Given the description of an element on the screen output the (x, y) to click on. 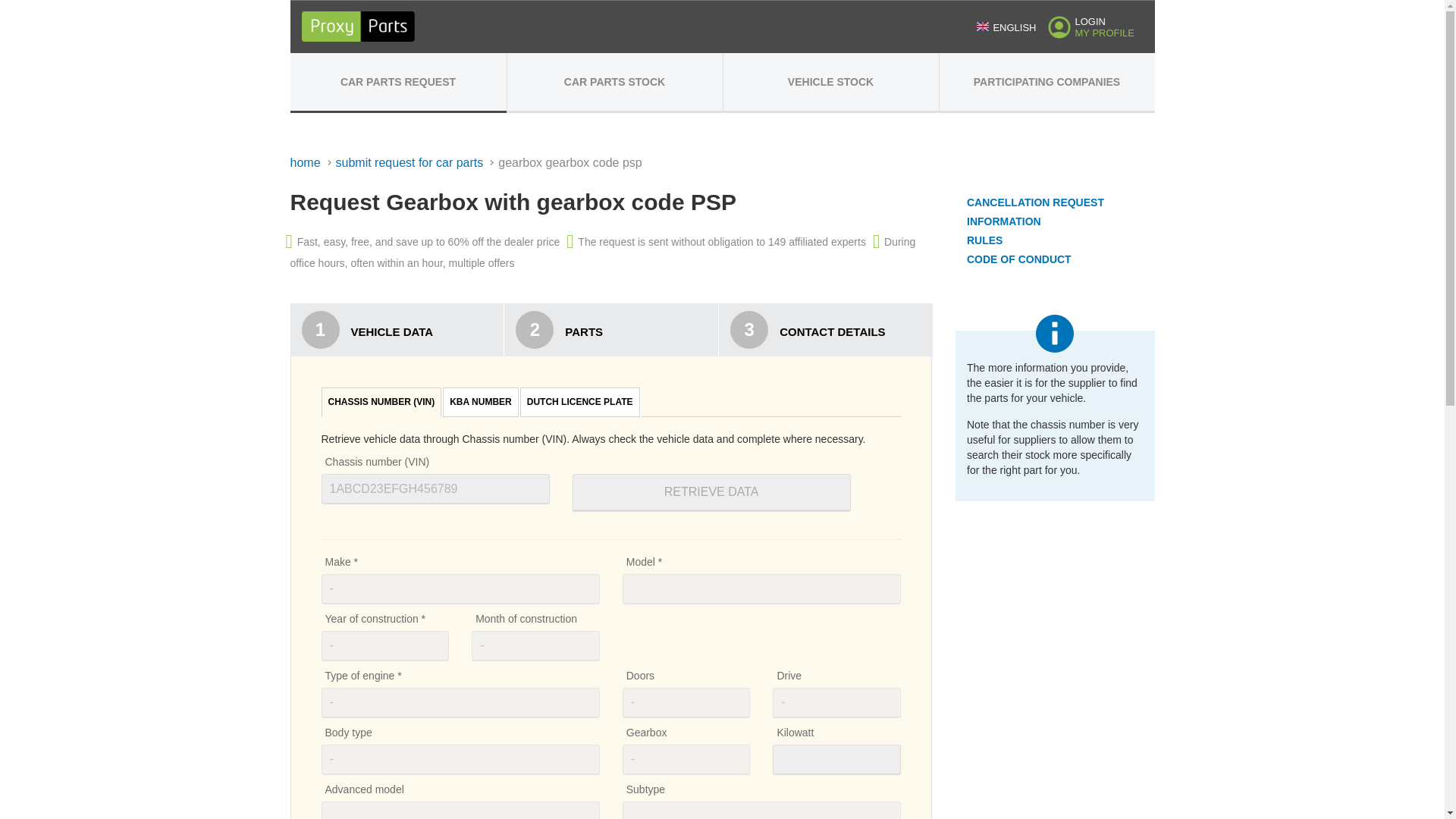
RULES (1003, 249)
Car parts stock (614, 81)
Damaged cars, salvage cars, and occasions (831, 81)
CAR PARTS REQUEST (397, 81)
KBA NUMBER (480, 401)
Submit request for car parts (417, 162)
CODE OF CONDUCT (1018, 268)
DUTCH LICENCE PLATE (579, 401)
gearbox Gearbox code psp (569, 162)
home (311, 162)
ENGLISH (1005, 27)
PARTICIPATING COMPANIES (1046, 81)
English (982, 26)
2PARTS (610, 329)
CANCELLATION REQUEST (1034, 211)
